Given the description of an element on the screen output the (x, y) to click on. 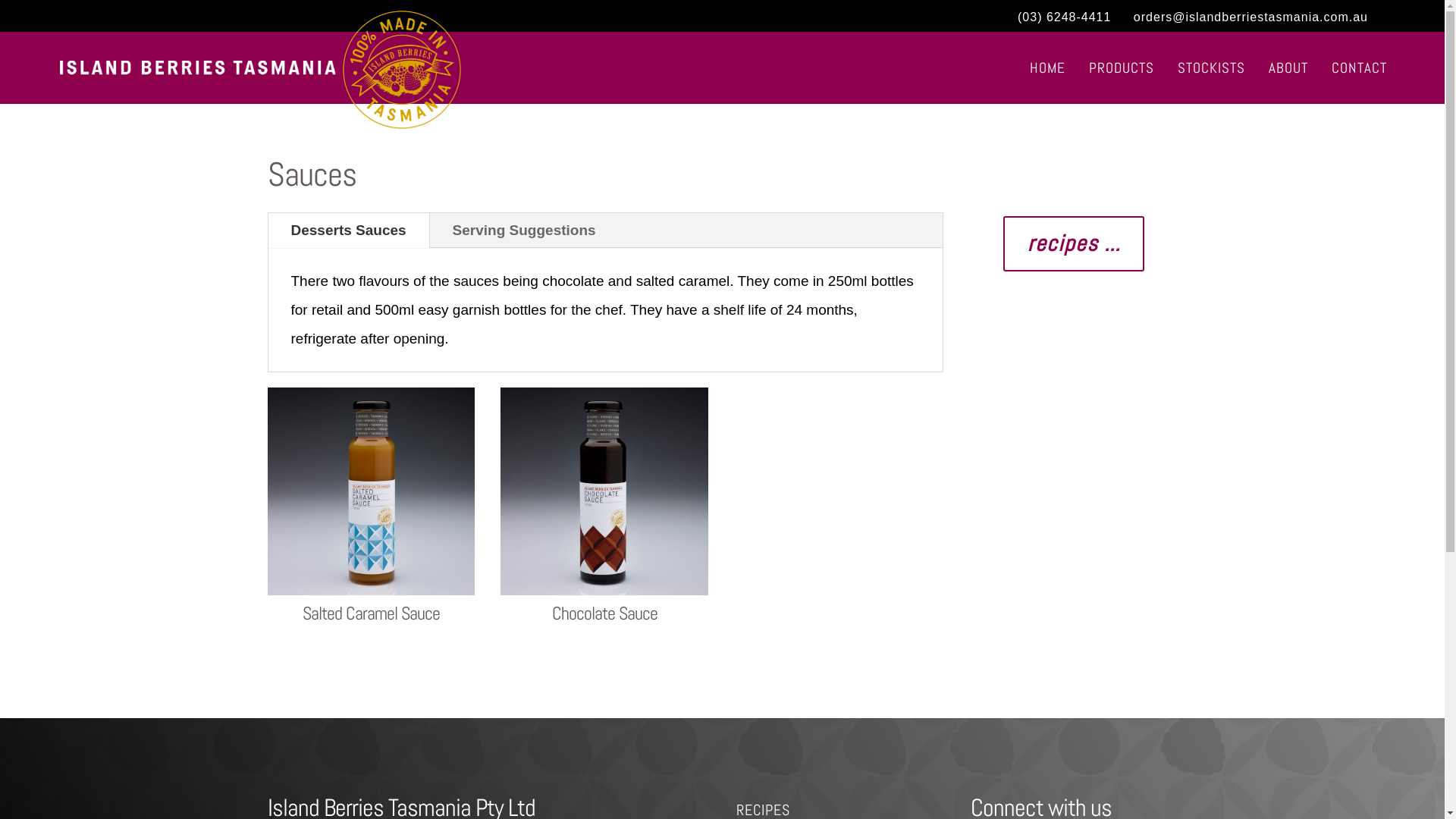
STOCKISTS Element type: text (1211, 68)
PRODUCTS Element type: text (1121, 68)
Desserts Sauces Element type: text (348, 230)
recipes ... Element type: text (1073, 243)
ABOUT Element type: text (1288, 68)
Salted Caramel Sauce Element type: text (370, 509)
orders@islandberriestasmania.com.au Element type: text (1250, 16)
HOME Element type: text (1047, 68)
Serving Suggestions Element type: text (523, 230)
island-berries-seal-medium Element type: hover (381, 49)
CONTACT Element type: text (1358, 68)
Chocolate Sauce Element type: text (604, 509)
